Given the description of an element on the screen output the (x, y) to click on. 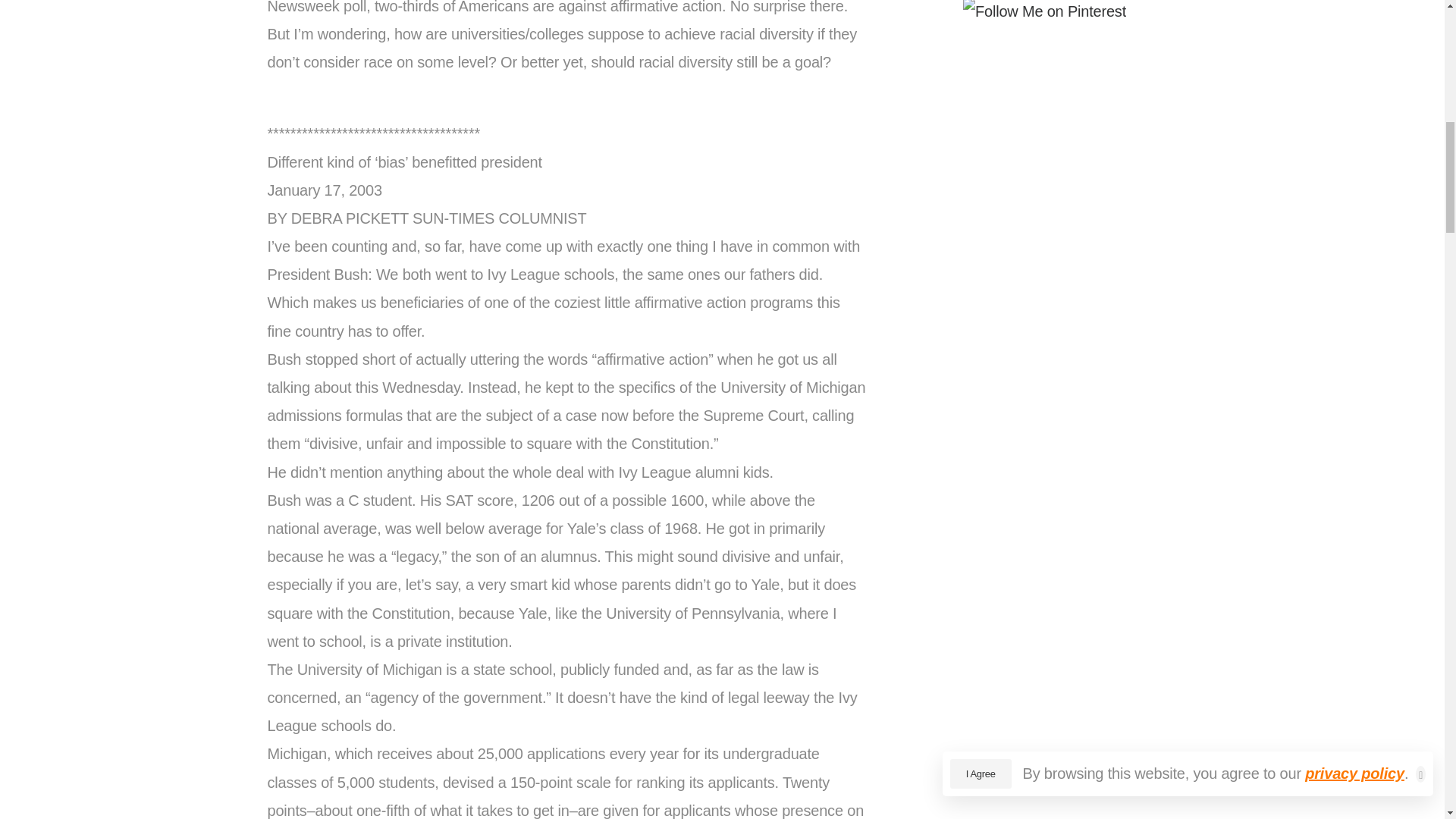
Follow Me on Pinterest (1045, 14)
